Given the description of an element on the screen output the (x, y) to click on. 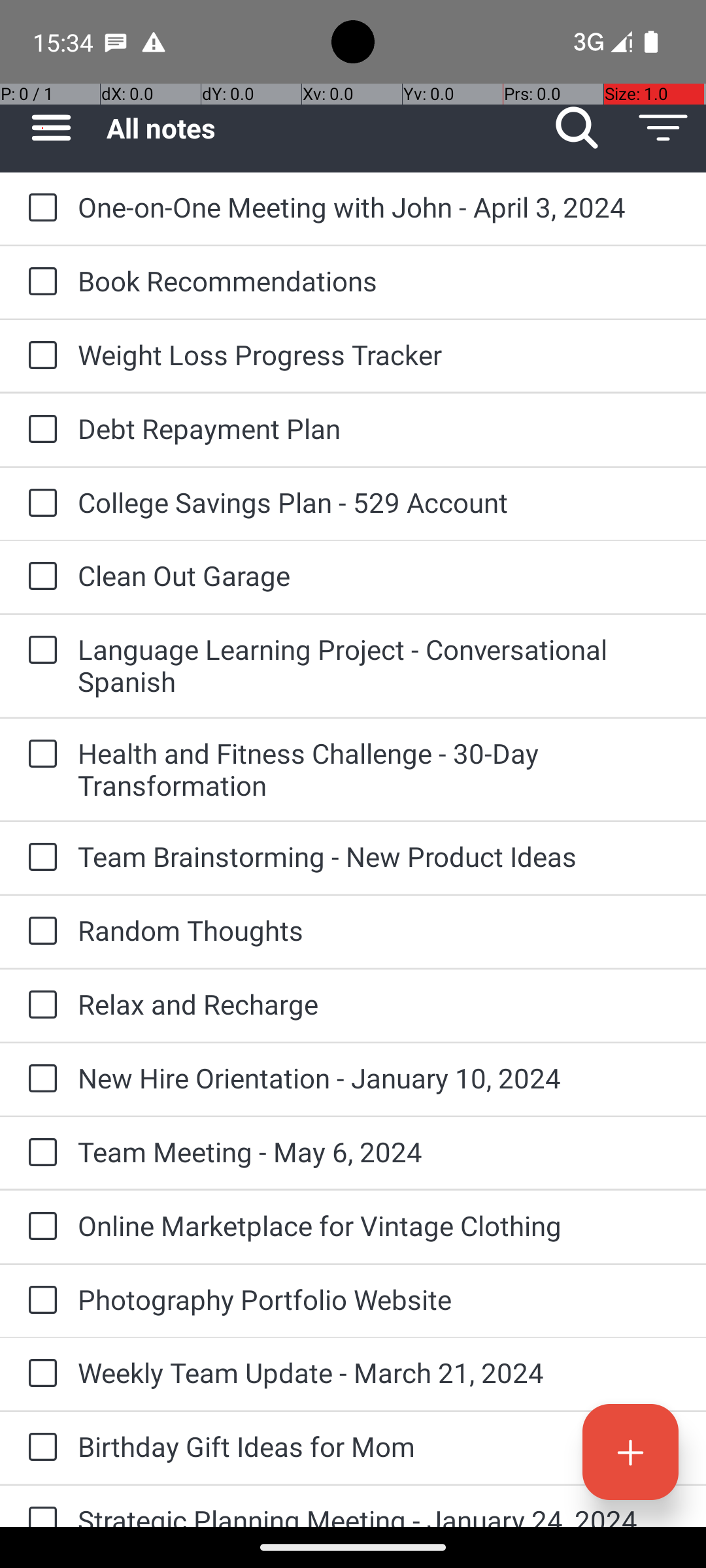
to-do: One-on-One Meeting with John - April 3, 2024 Element type: android.widget.CheckBox (38, 208)
One-on-One Meeting with John - April 3, 2024 Element type: android.widget.TextView (378, 206)
to-do: Book Recommendations Element type: android.widget.CheckBox (38, 282)
Book Recommendations Element type: android.widget.TextView (378, 280)
to-do: Weight Loss Progress Tracker Element type: android.widget.CheckBox (38, 356)
Weight Loss Progress Tracker Element type: android.widget.TextView (378, 354)
to-do: Debt Repayment Plan Element type: android.widget.CheckBox (38, 429)
Debt Repayment Plan Element type: android.widget.TextView (378, 427)
to-do: College Savings Plan - 529 Account Element type: android.widget.CheckBox (38, 503)
College Savings Plan - 529 Account Element type: android.widget.TextView (378, 501)
to-do: Clean Out Garage Element type: android.widget.CheckBox (38, 576)
Clean Out Garage Element type: android.widget.TextView (378, 574)
to-do: Language Learning Project - Conversational Spanish Element type: android.widget.CheckBox (38, 650)
Language Learning Project - Conversational Spanish Element type: android.widget.TextView (378, 664)
to-do: Health and Fitness Challenge - 30-Day Transformation Element type: android.widget.CheckBox (38, 754)
Health and Fitness Challenge - 30-Day Transformation Element type: android.widget.TextView (378, 768)
to-do: Team Brainstorming - New Product Ideas Element type: android.widget.CheckBox (38, 857)
Team Brainstorming - New Product Ideas Element type: android.widget.TextView (378, 855)
to-do: Random Thoughts Element type: android.widget.CheckBox (38, 931)
Random Thoughts Element type: android.widget.TextView (378, 929)
to-do: Relax and Recharge Element type: android.widget.CheckBox (38, 1005)
Relax and Recharge Element type: android.widget.TextView (378, 1003)
to-do: New Hire Orientation - January 10, 2024 Element type: android.widget.CheckBox (38, 1079)
New Hire Orientation - January 10, 2024 Element type: android.widget.TextView (378, 1077)
to-do: Team Meeting - May 6, 2024 Element type: android.widget.CheckBox (38, 1153)
Team Meeting - May 6, 2024 Element type: android.widget.TextView (378, 1151)
to-do: Online Marketplace for Vintage Clothing Element type: android.widget.CheckBox (38, 1227)
Online Marketplace for Vintage Clothing Element type: android.widget.TextView (378, 1224)
to-do: Photography Portfolio Website Element type: android.widget.CheckBox (38, 1300)
Photography Portfolio Website Element type: android.widget.TextView (378, 1298)
to-do: Weekly Team Update - March 21, 2024 Element type: android.widget.CheckBox (38, 1373)
Weekly Team Update - March 21, 2024 Element type: android.widget.TextView (378, 1371)
to-do: Birthday Gift Ideas for Mom Element type: android.widget.CheckBox (38, 1447)
Birthday Gift Ideas for Mom Element type: android.widget.TextView (378, 1445)
to-do: Strategic Planning Meeting - January 24, 2024 Element type: android.widget.CheckBox (38, 1505)
Strategic Planning Meeting - January 24, 2024 Element type: android.widget.TextView (378, 1513)
